Given the description of an element on the screen output the (x, y) to click on. 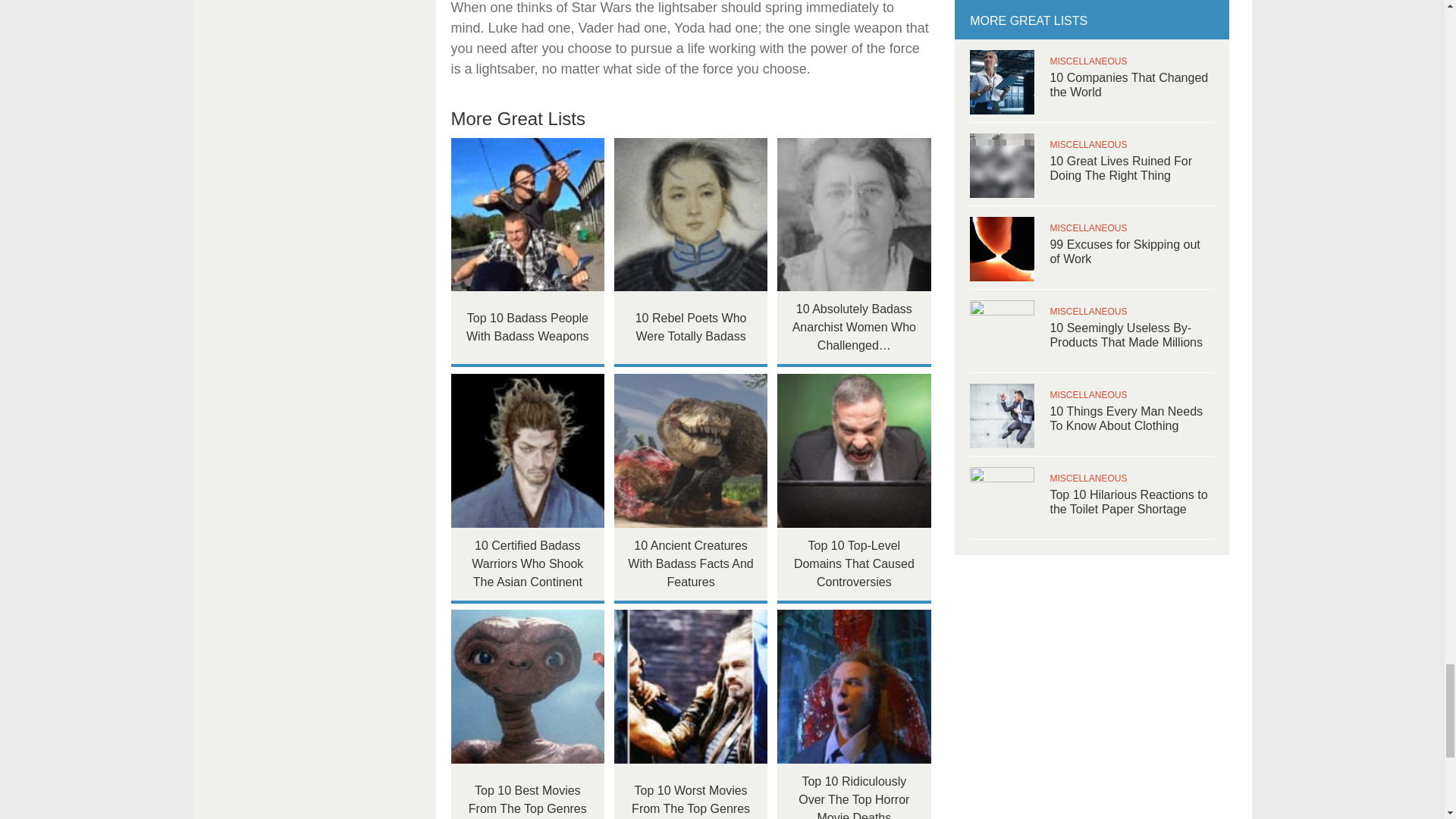
10 Rebel Poets Who Were Totally Badass (691, 214)
Top 10 Badass People With Badass Weapons (526, 214)
